Given the description of an element on the screen output the (x, y) to click on. 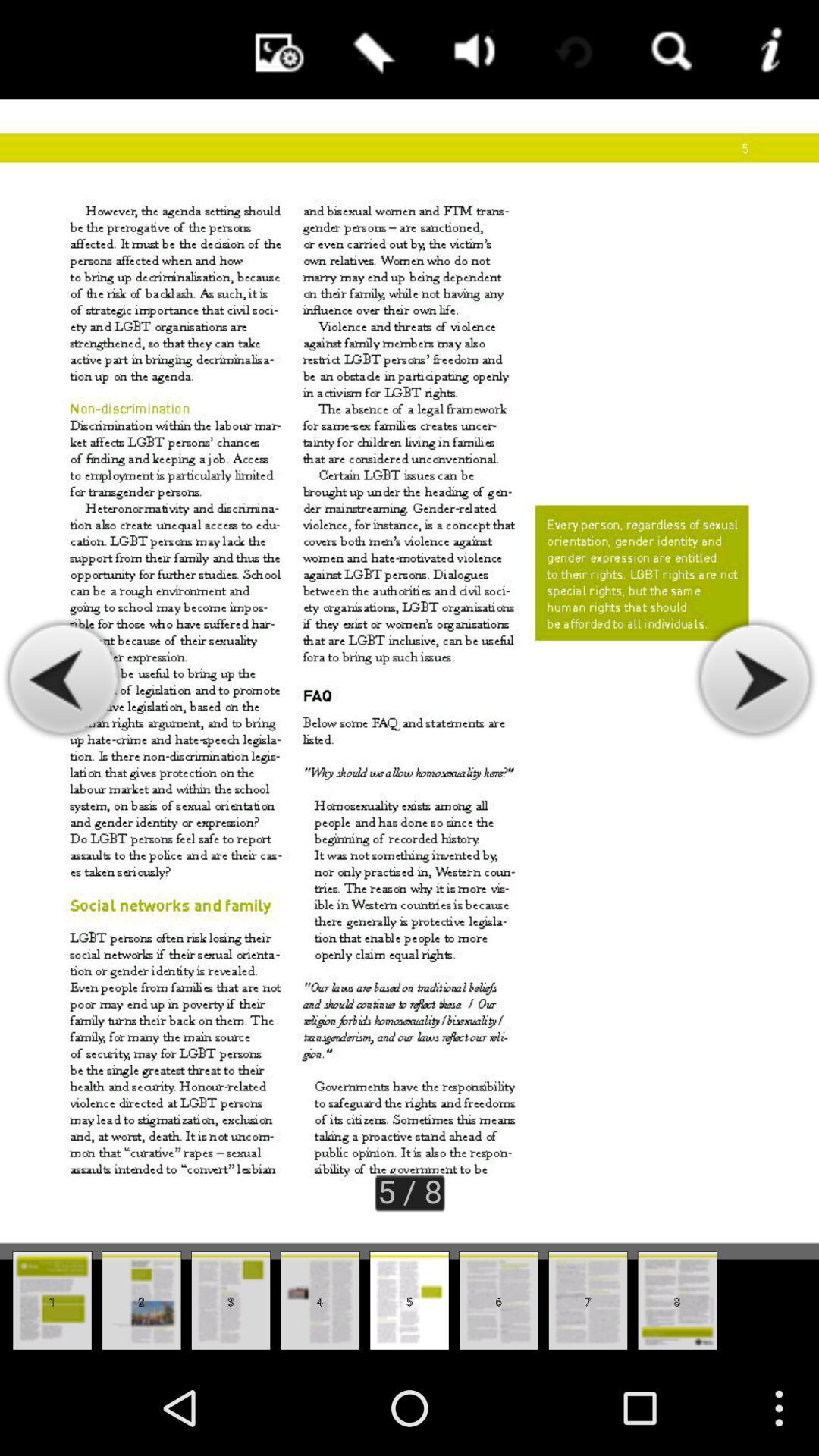
volume (470, 49)
